Given the description of an element on the screen output the (x, y) to click on. 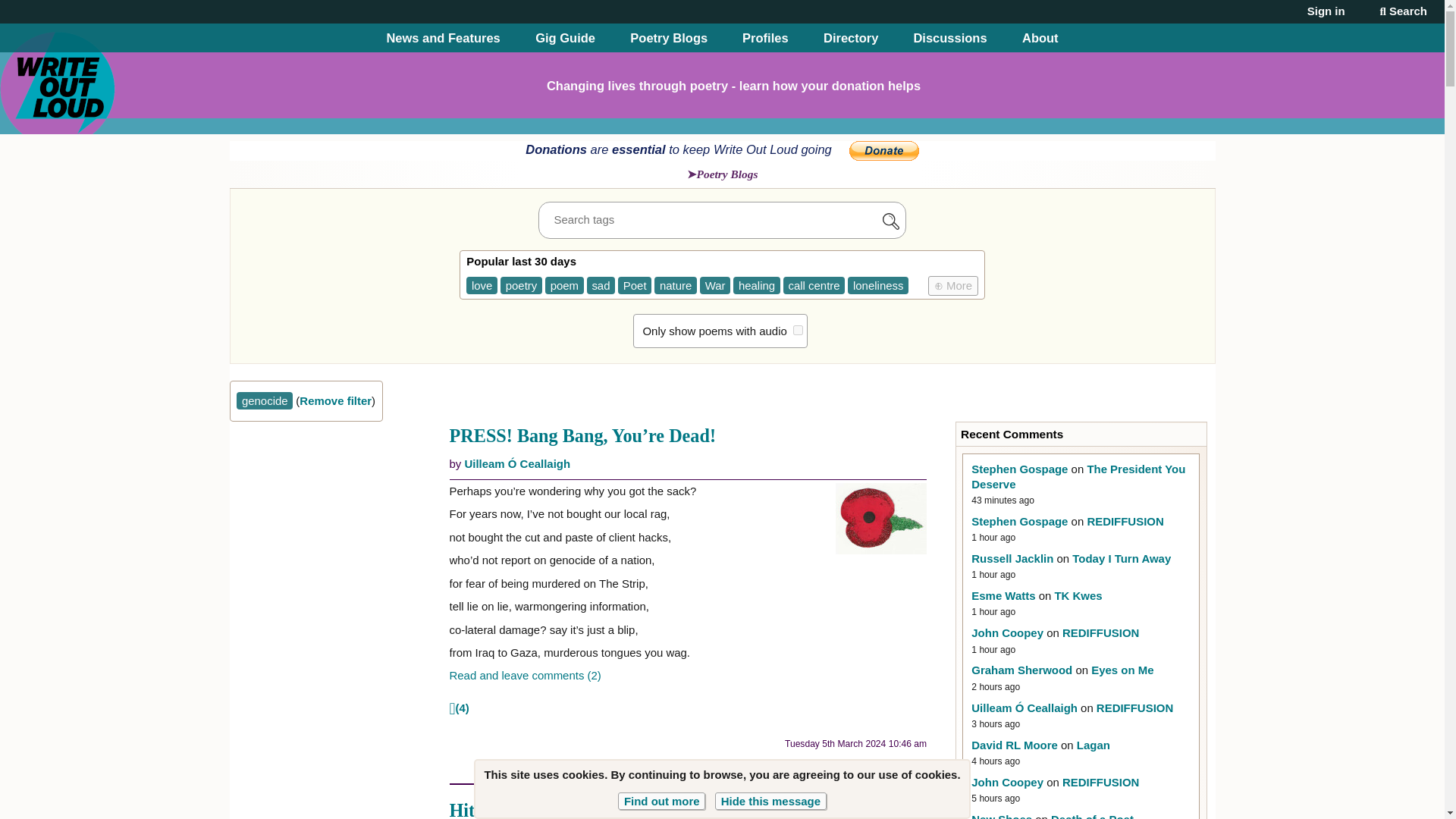
Search (1403, 10)
PayPal - The safer, easier way to pay online! (883, 150)
Poet (633, 285)
call centre (813, 285)
loneliness (877, 285)
poetry (520, 285)
sad (600, 285)
poem (563, 285)
Stephen Gospage (1019, 468)
Gig Guide (565, 38)
